Given the description of an element on the screen output the (x, y) to click on. 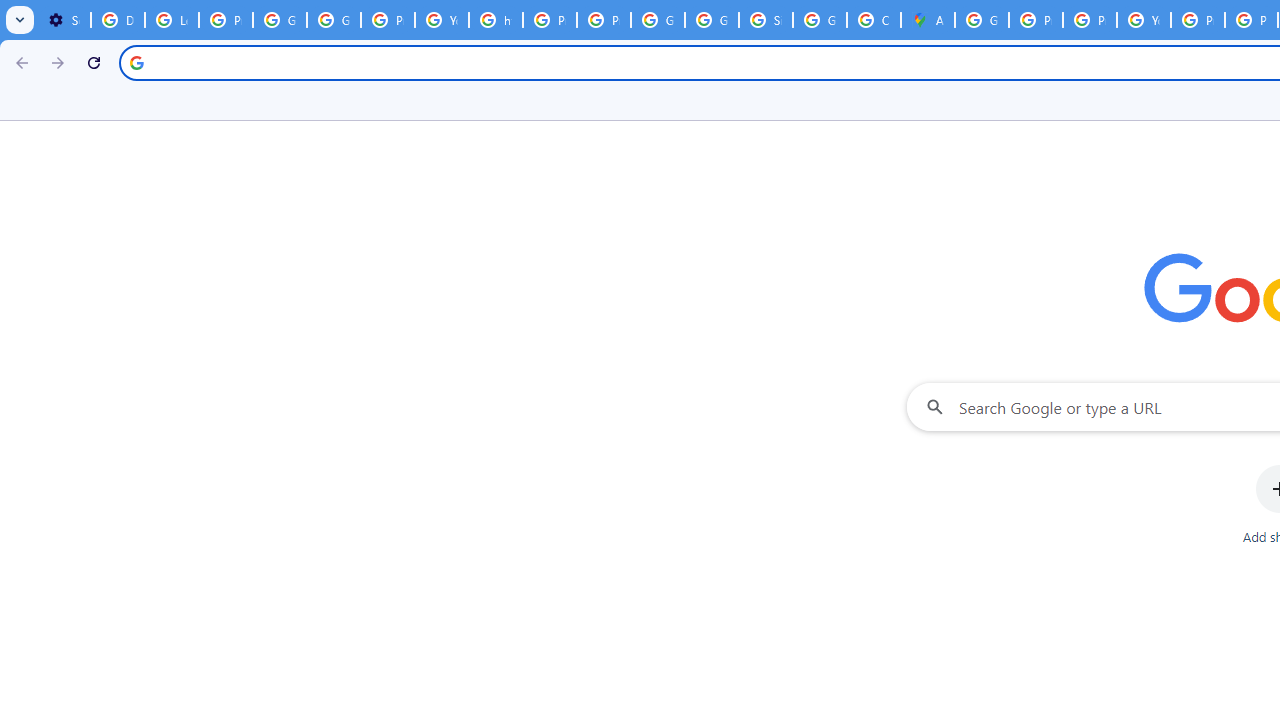
Settings - On startup (63, 20)
Google Account Help (333, 20)
Google Account Help (280, 20)
Learn how to find your photos - Google Photos Help (171, 20)
YouTube (1144, 20)
Sign in - Google Accounts (765, 20)
Search tabs (20, 20)
https://scholar.google.com/ (495, 20)
